Given the description of an element on the screen output the (x, y) to click on. 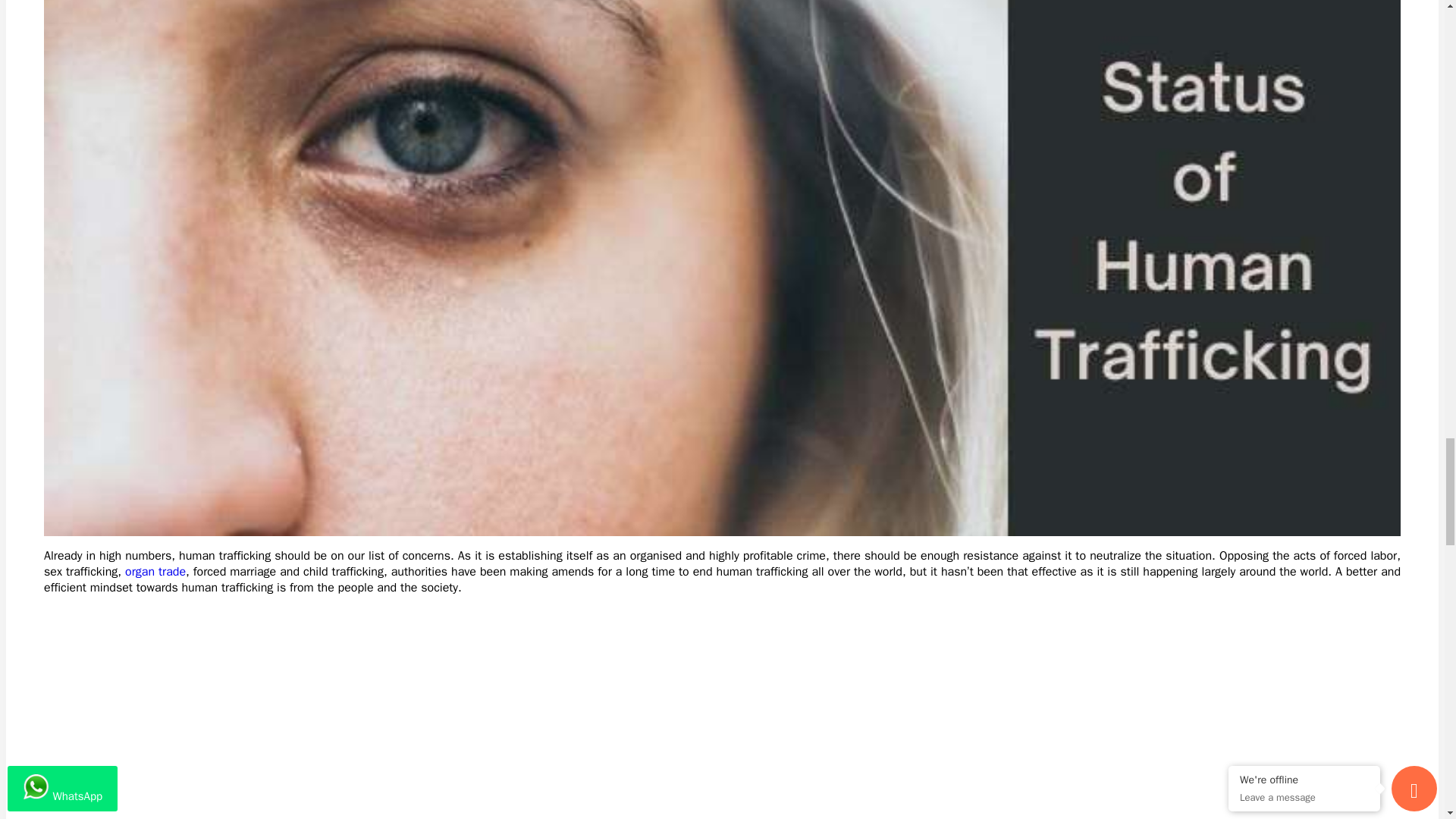
What is Human Trafficking (233, 714)
organ trade (155, 571)
